Given the description of an element on the screen output the (x, y) to click on. 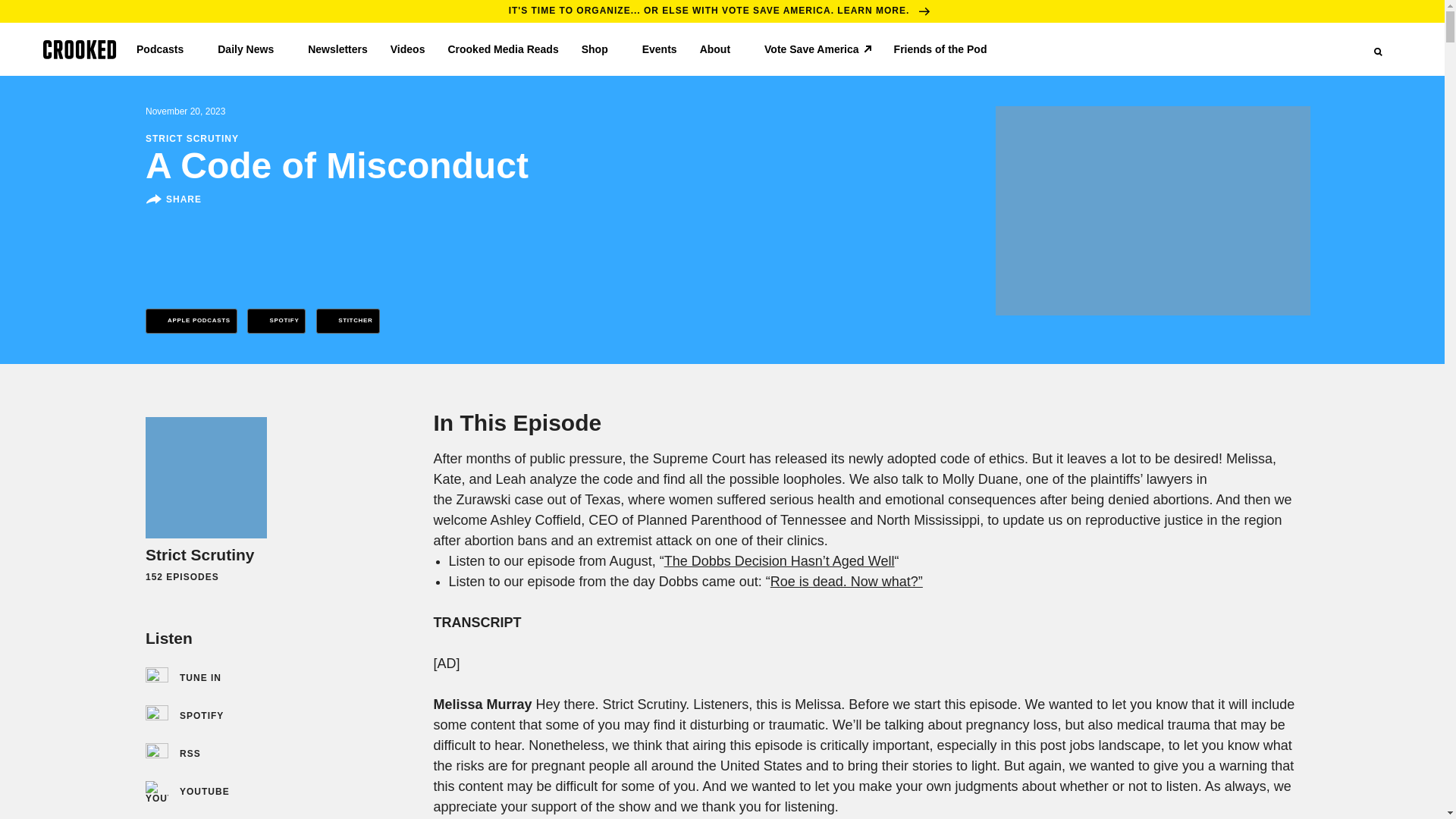
Videos (407, 48)
About (720, 48)
Vote Save America (817, 48)
Friends of the Pod (945, 48)
Daily News (250, 48)
Shop (600, 48)
Podcasts (165, 48)
Crooked Media Reads (501, 48)
Newsletters (337, 48)
Events (659, 48)
